Given the description of an element on the screen output the (x, y) to click on. 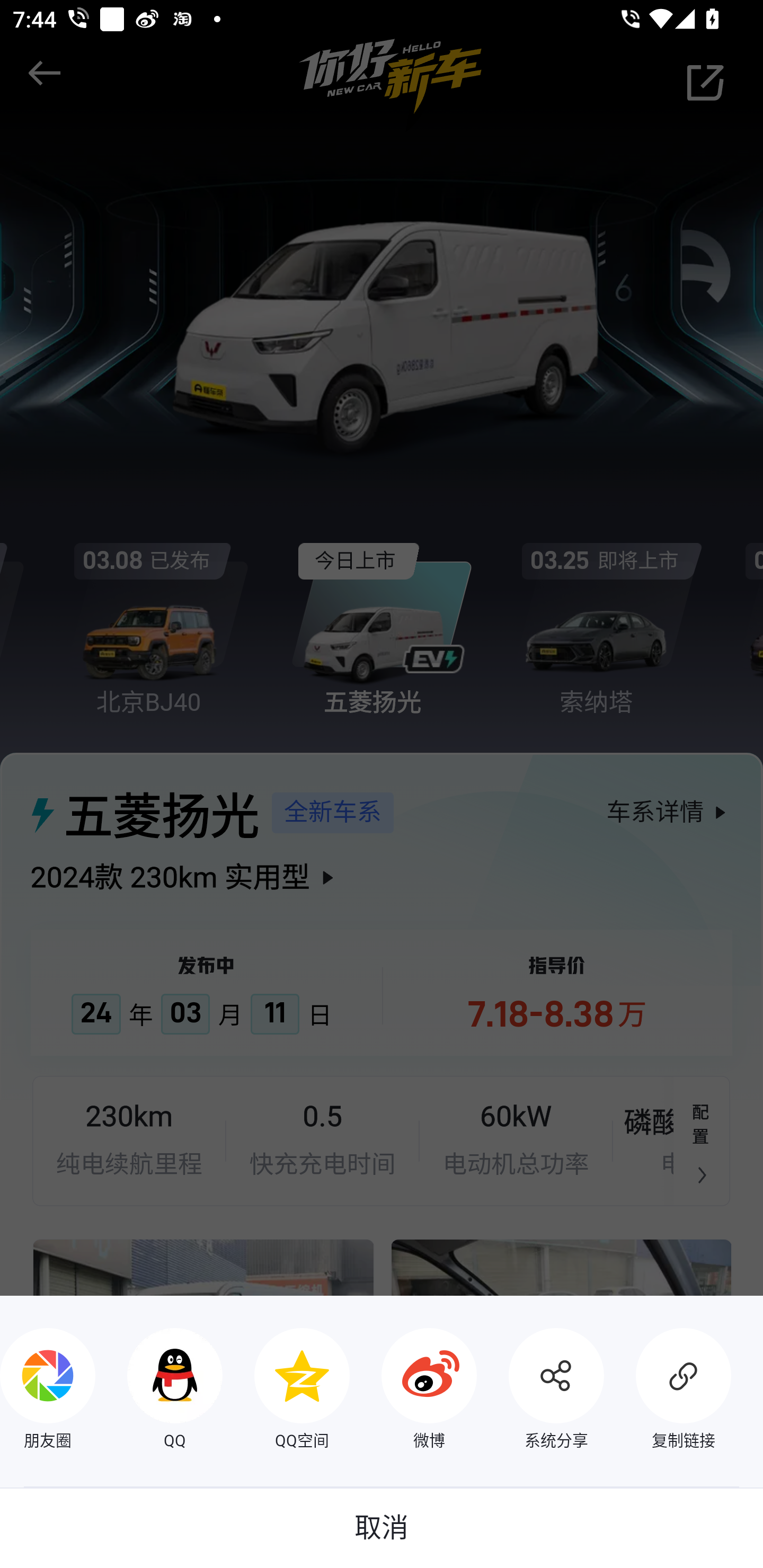
朋友圈 (47, 1390)
QQ (158, 1390)
QQ空间 (285, 1390)
微博 (412, 1390)
系统分享 (540, 1390)
复制链接 (667, 1390)
取消 (381, 1528)
